Given the description of an element on the screen output the (x, y) to click on. 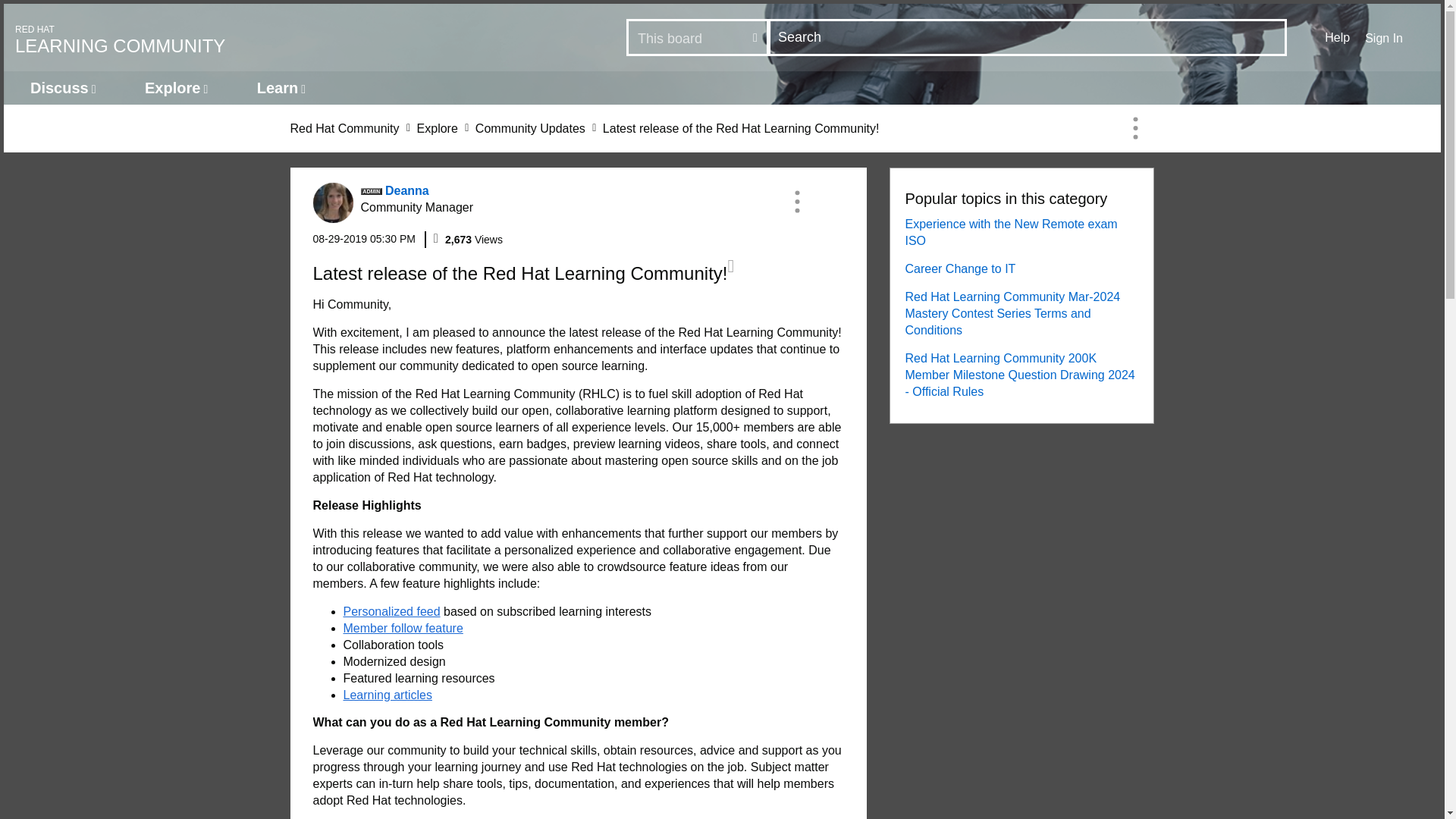
Deanna (332, 202)
Help (1336, 36)
Options (1135, 127)
Explore (176, 87)
Show option menu (1135, 127)
Discuss (63, 87)
Show option menu (796, 201)
Community Manager (371, 191)
Explore (269, 37)
Learn (437, 128)
Posted on (281, 87)
Search (363, 238)
Community Updates (1027, 37)
Search (530, 128)
